Given the description of an element on the screen output the (x, y) to click on. 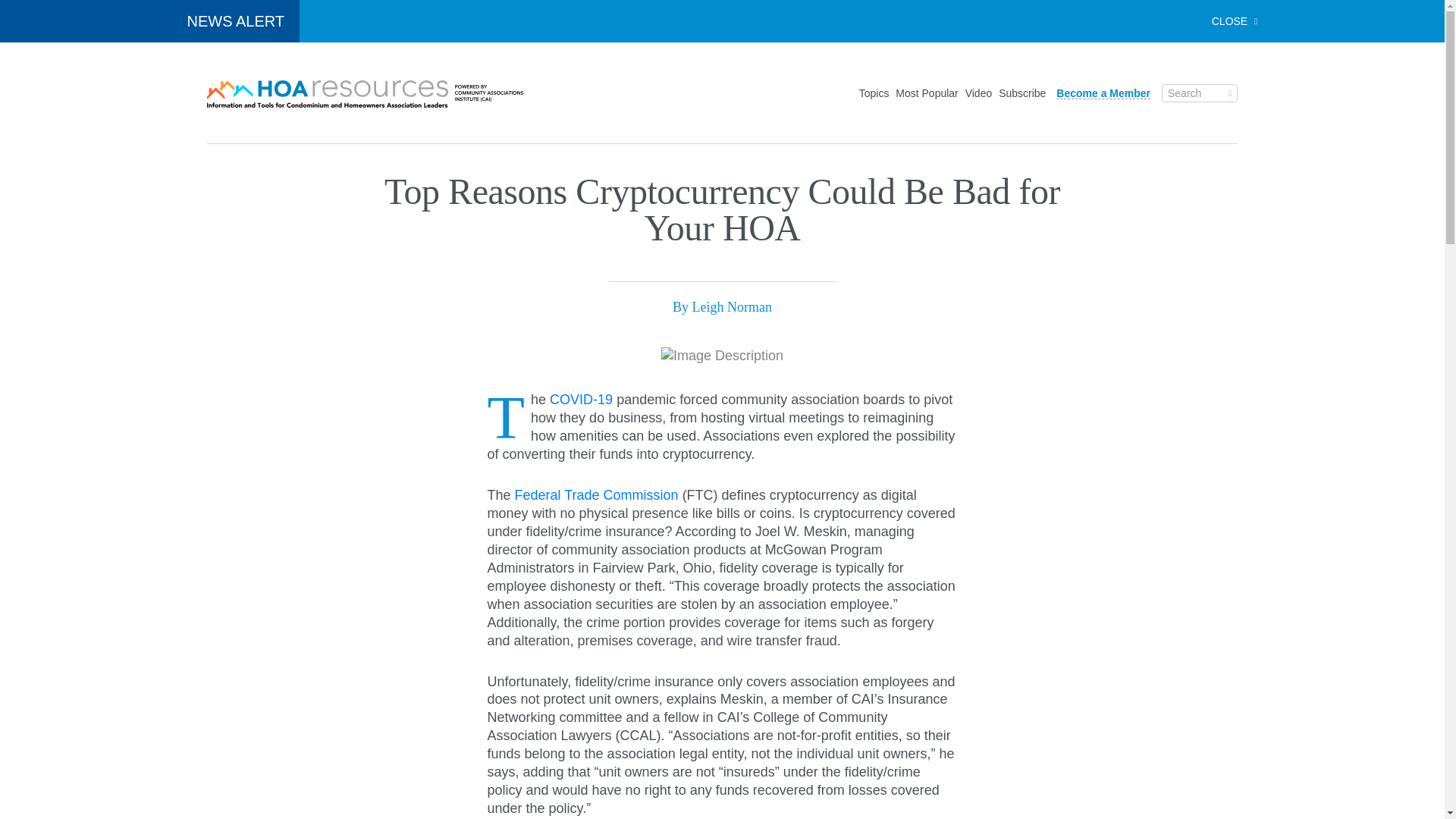
Topics (874, 92)
Become a Member (1103, 92)
Most Popular (926, 92)
Subscribe (1021, 92)
Federal Trade Commission (596, 494)
CLOSE (1234, 21)
Video (978, 92)
COVID-19 (581, 399)
